Given the description of an element on the screen output the (x, y) to click on. 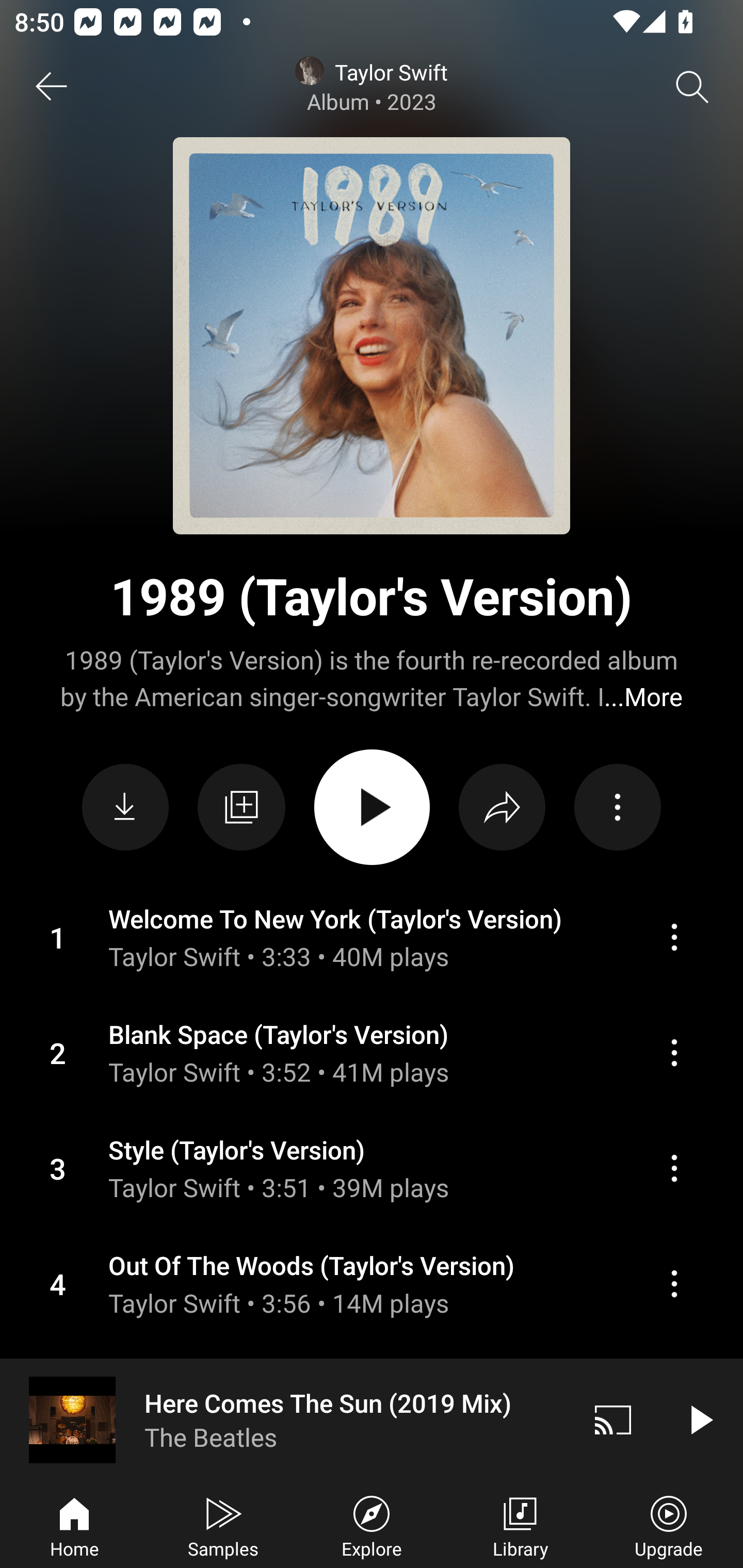
Back (50, 86)
Search (692, 86)
PLAY ALL (371, 807)
Download (125, 807)
Share (501, 807)
Action menu (617, 807)
Save to library (241, 806)
Action menu (371, 937)
Action menu (673, 936)
Action menu (371, 1052)
Action menu (673, 1052)
Action menu (371, 1168)
Action menu (673, 1168)
Action menu (371, 1284)
Action menu (673, 1283)
Here Comes The Sun (2019 Mix) The Beatles (284, 1419)
Cast. Disconnected (612, 1419)
Play video (699, 1419)
Home (74, 1524)
Samples (222, 1524)
Explore (371, 1524)
Library (519, 1524)
Upgrade (668, 1524)
